Given the description of an element on the screen output the (x, y) to click on. 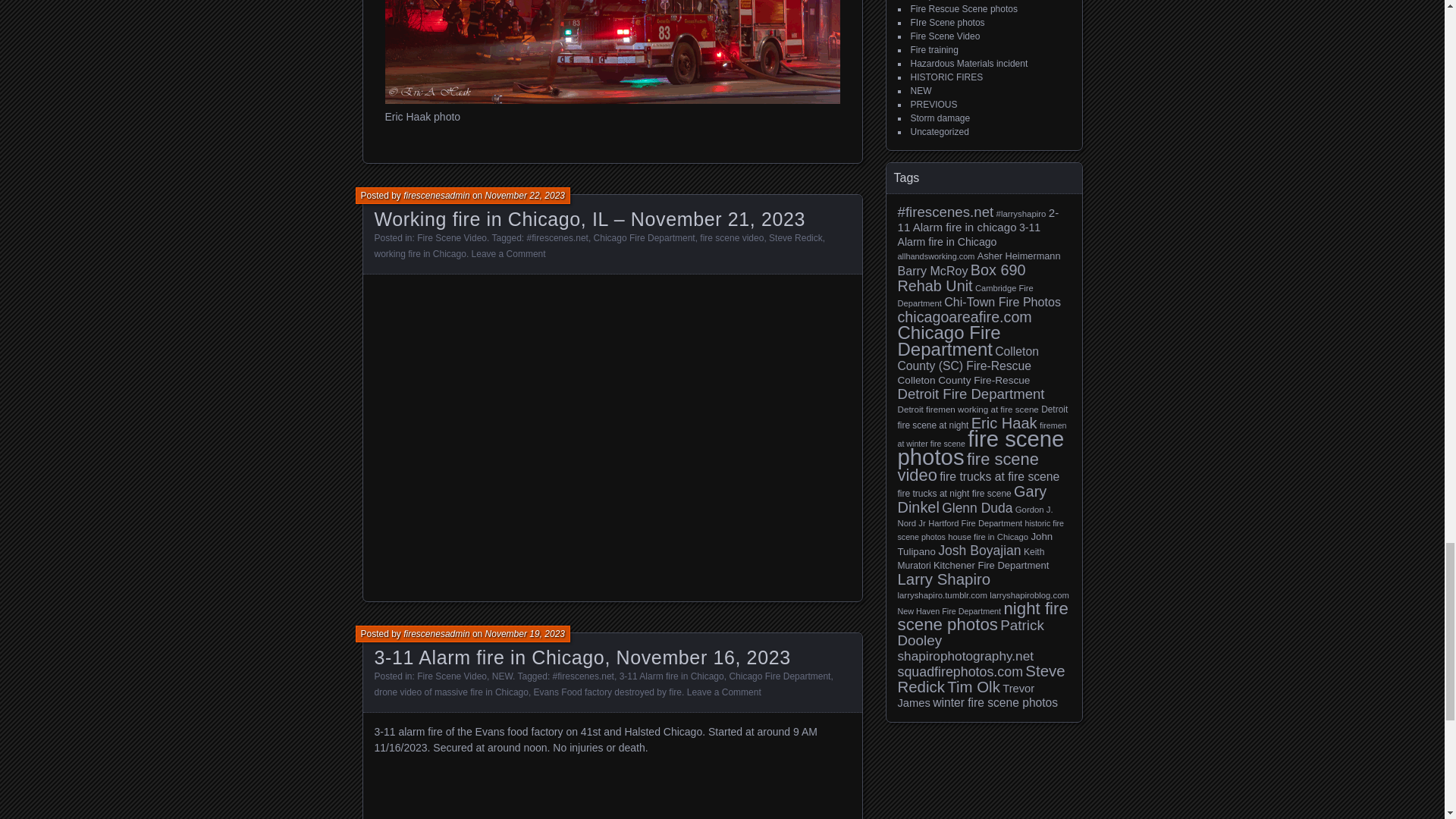
Leave a Comment (508, 253)
View all posts by firescenesadmin (435, 633)
November 19, 2023 (524, 633)
November 22, 2023 (524, 195)
firescenesadmin (435, 633)
firescenesadmin (435, 195)
Steve Redick (795, 237)
3-11 Alarm fire in Chicago, November 16, 2023 (582, 657)
View all posts by firescenesadmin (435, 195)
fire scene video (731, 237)
